Given the description of an element on the screen output the (x, y) to click on. 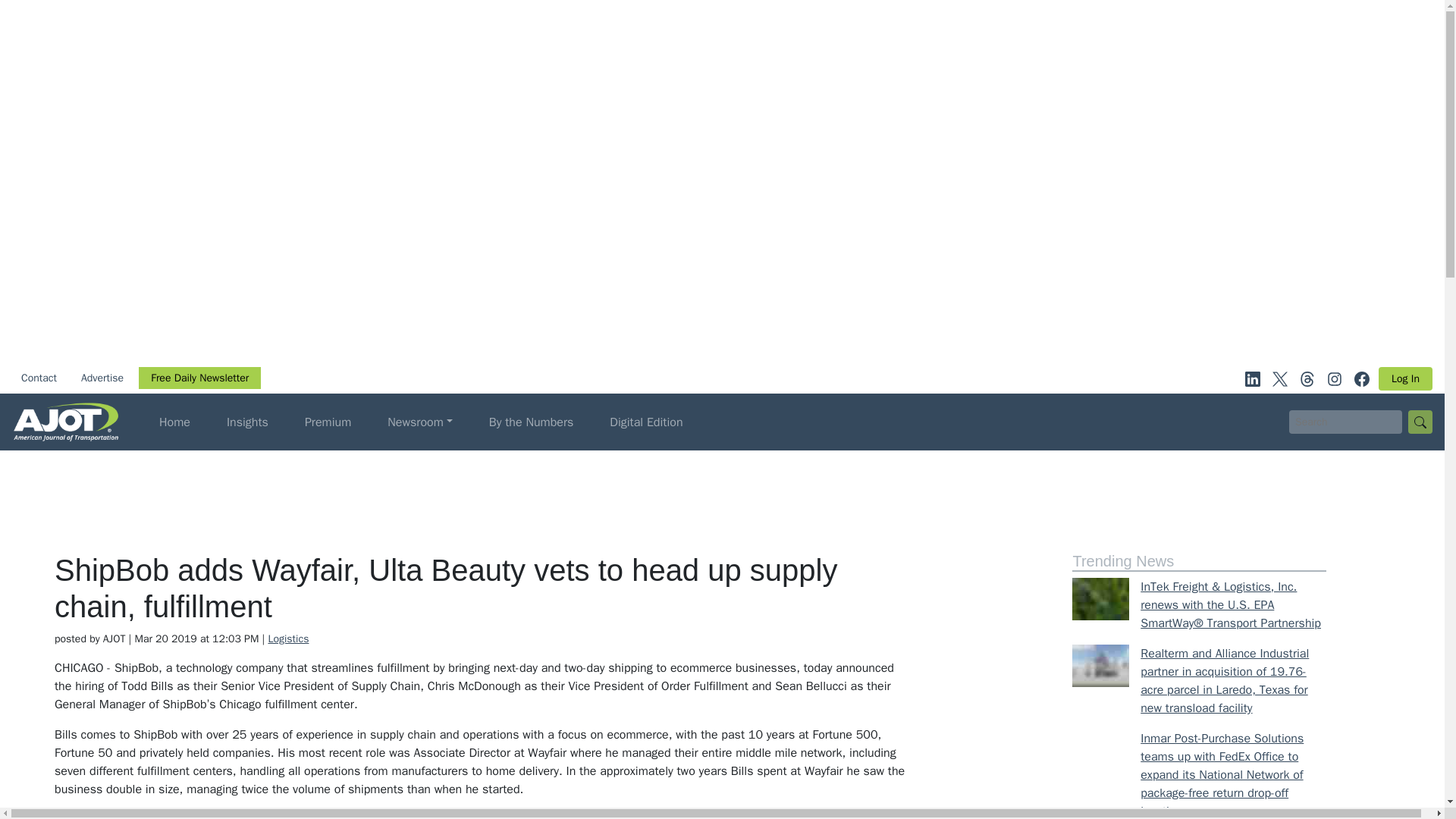
Advertise (101, 377)
Free Daily Newsletter (199, 377)
Logistics (287, 638)
Insights (248, 422)
Premium (327, 422)
Contact (38, 377)
Logistics (287, 638)
Newsroom (419, 422)
Digital Edition (646, 422)
Log In (1405, 378)
